Given the description of an element on the screen output the (x, y) to click on. 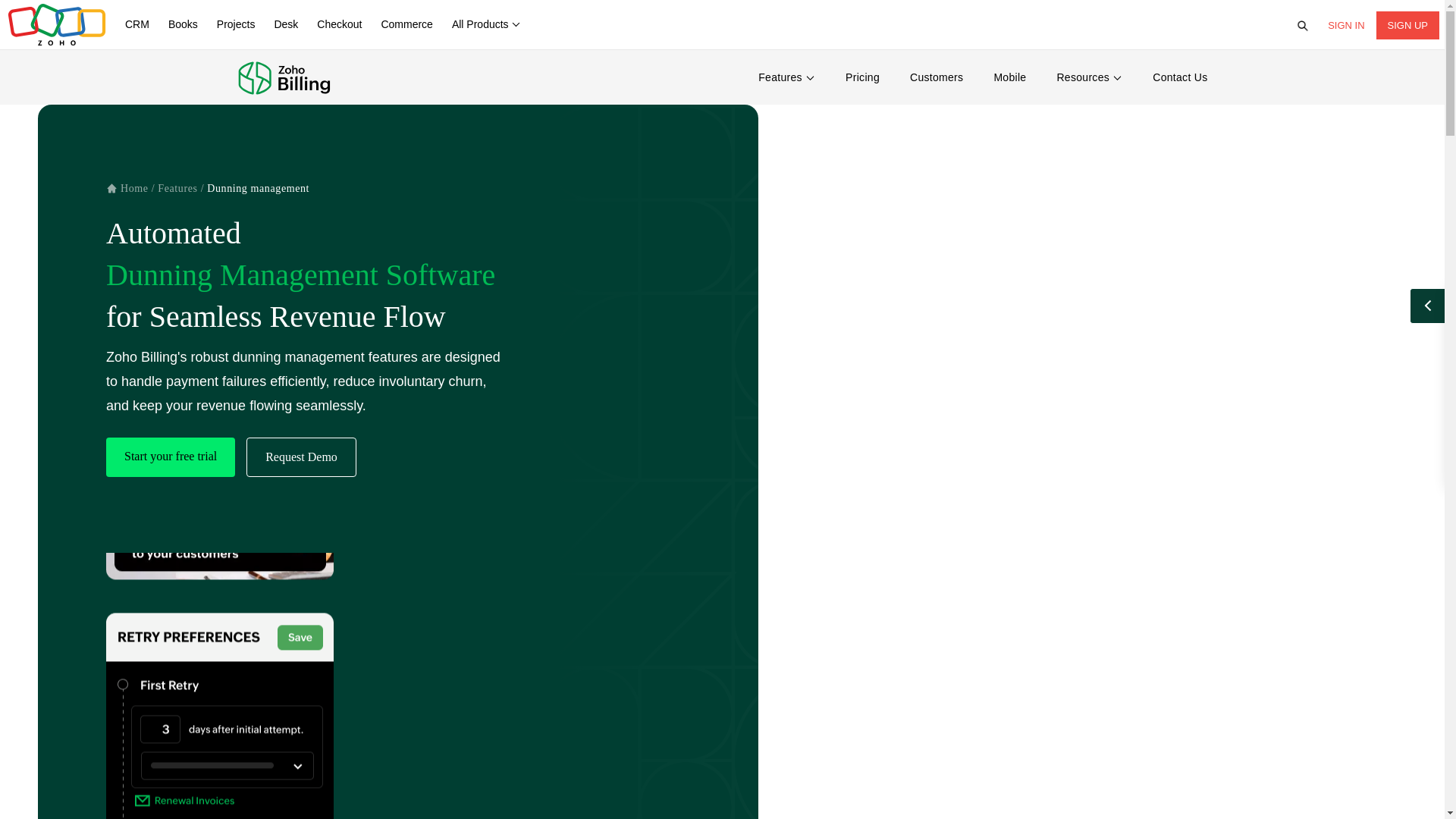
Zoho (56, 24)
Zoho Billing (311, 77)
Checkout (339, 24)
All Products (485, 23)
Commerce (406, 24)
